Given the description of an element on the screen output the (x, y) to click on. 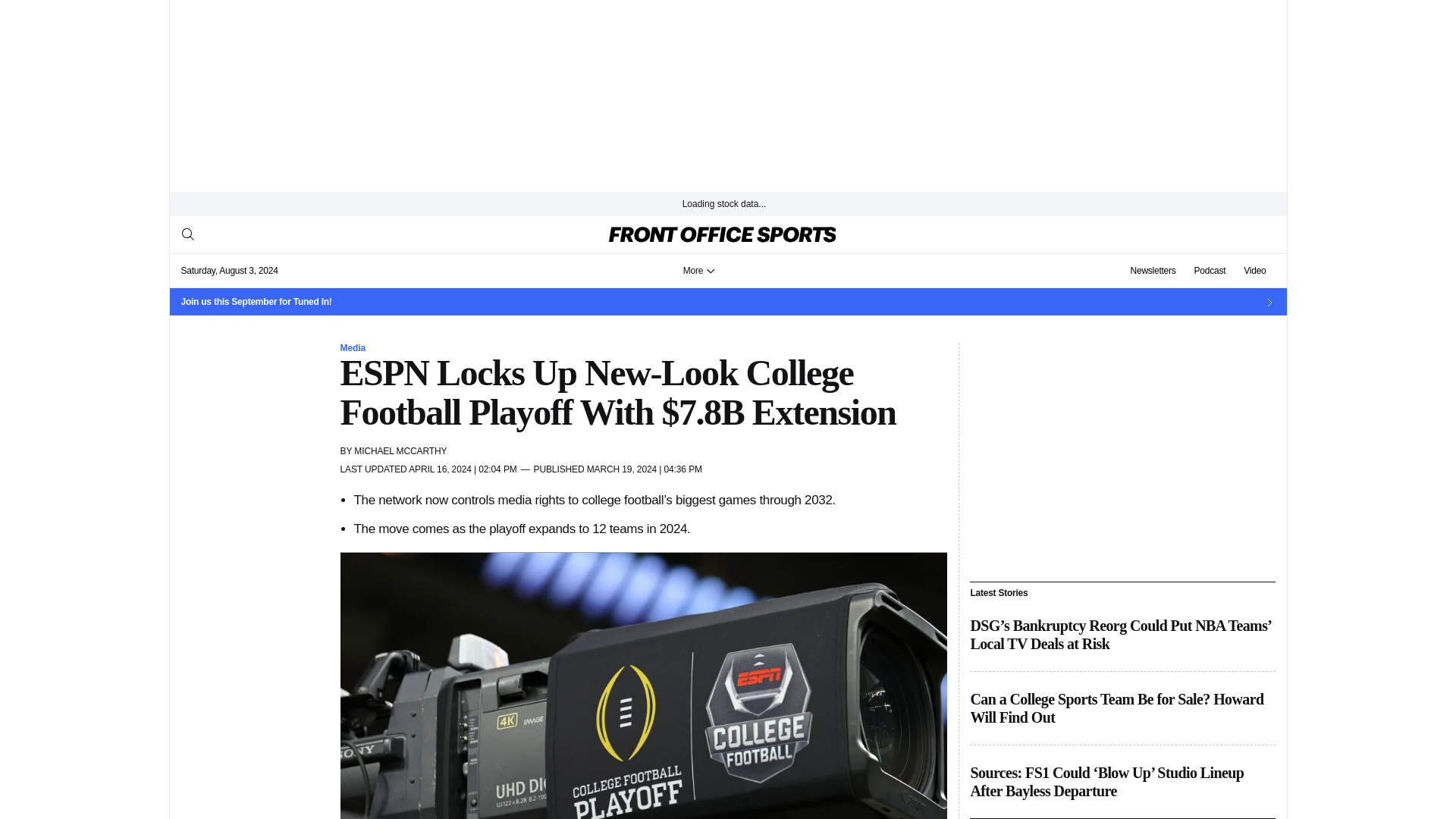
More (699, 270)
Posts by Michael McCarthy (399, 450)
